Given the description of an element on the screen output the (x, y) to click on. 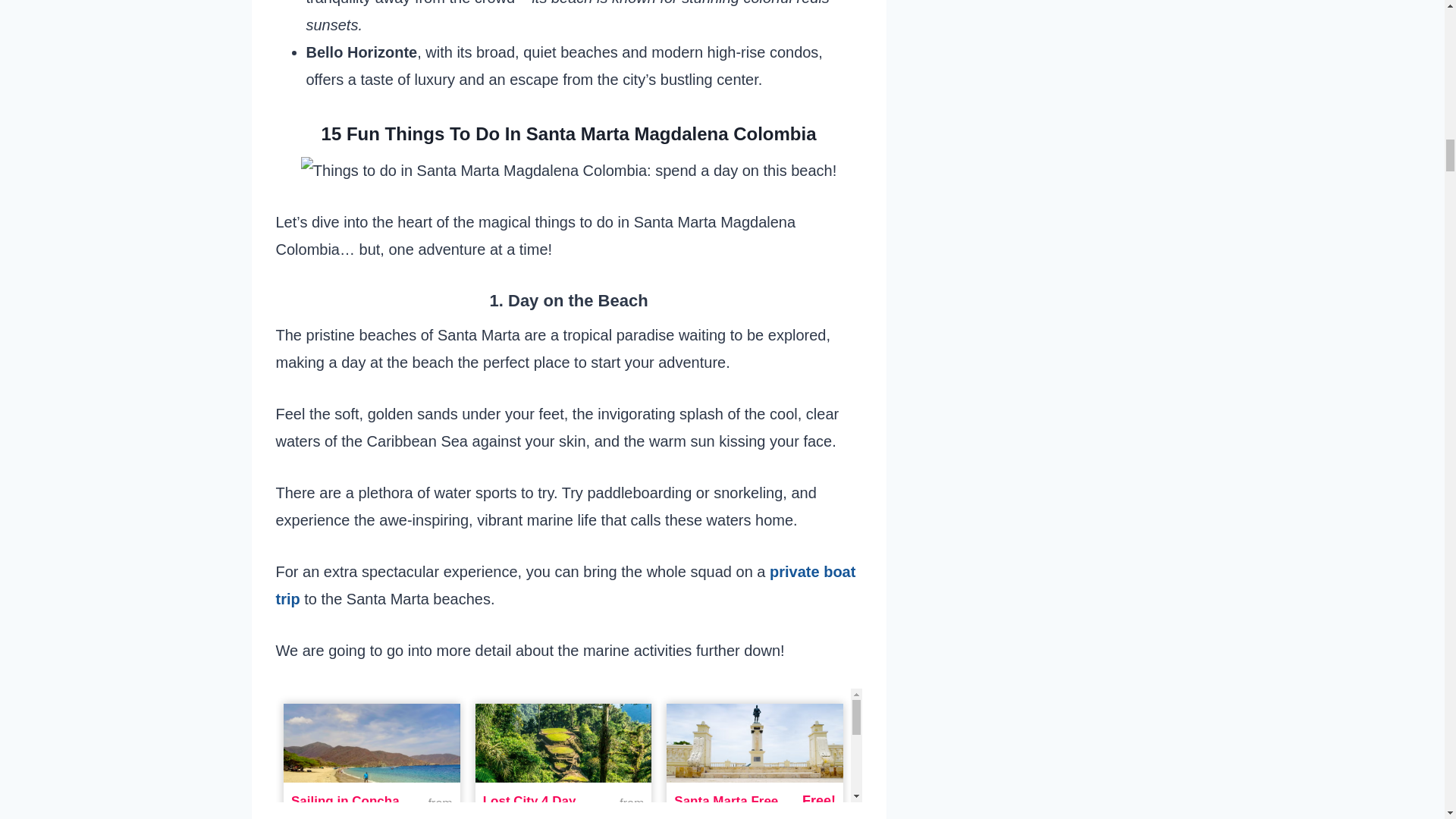
private boat trip (566, 585)
